Given the description of an element on the screen output the (x, y) to click on. 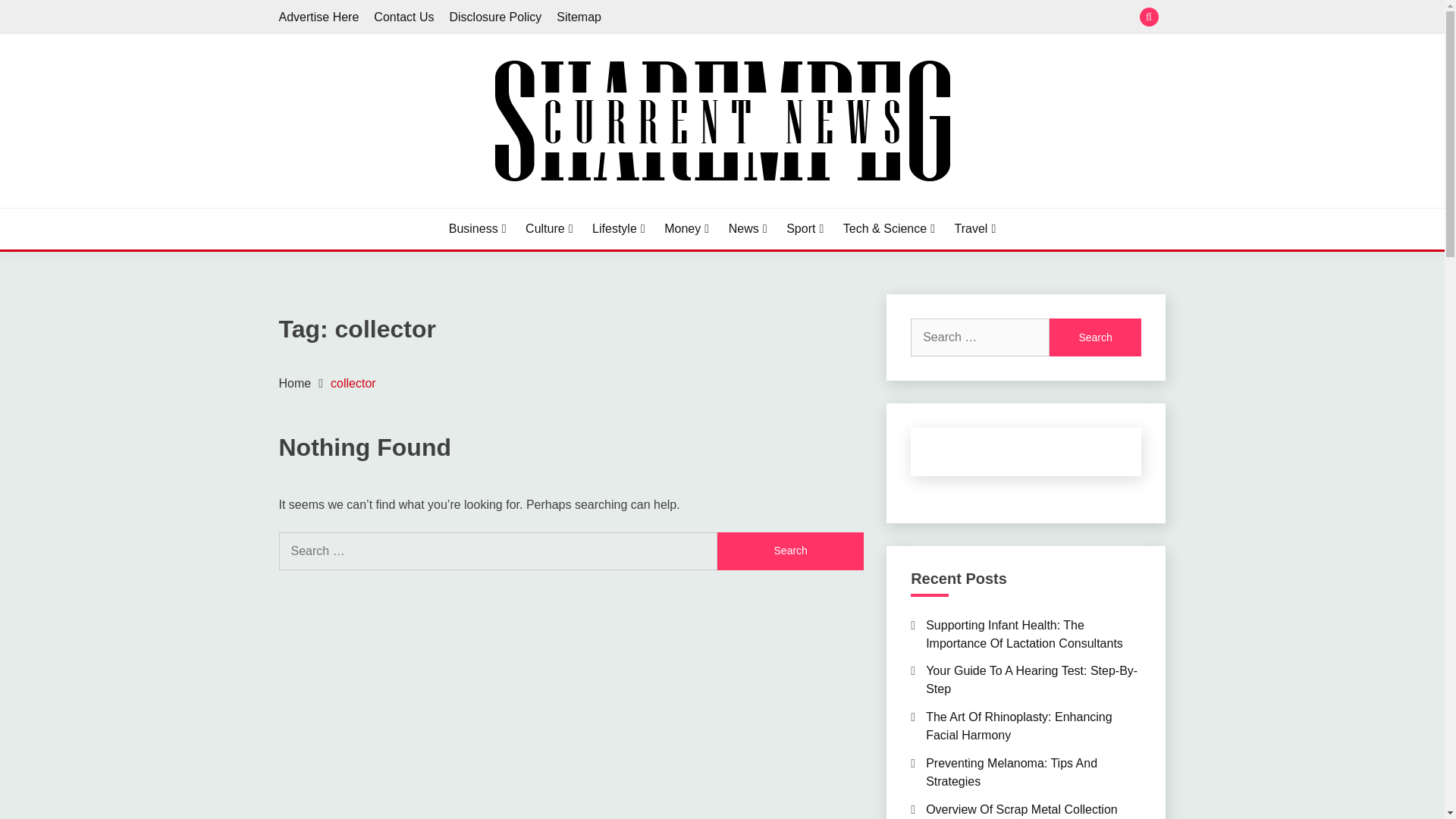
Search (832, 18)
Disclosure Policy (494, 16)
Search (1095, 337)
Search (1095, 337)
Money (686, 229)
Culture (548, 229)
Contact Us (403, 16)
Business (477, 229)
Search (790, 551)
SHARE MPEG (372, 205)
Advertise Here (319, 16)
Lifestyle (618, 229)
Search (790, 551)
Sitemap (578, 16)
